Given the description of an element on the screen output the (x, y) to click on. 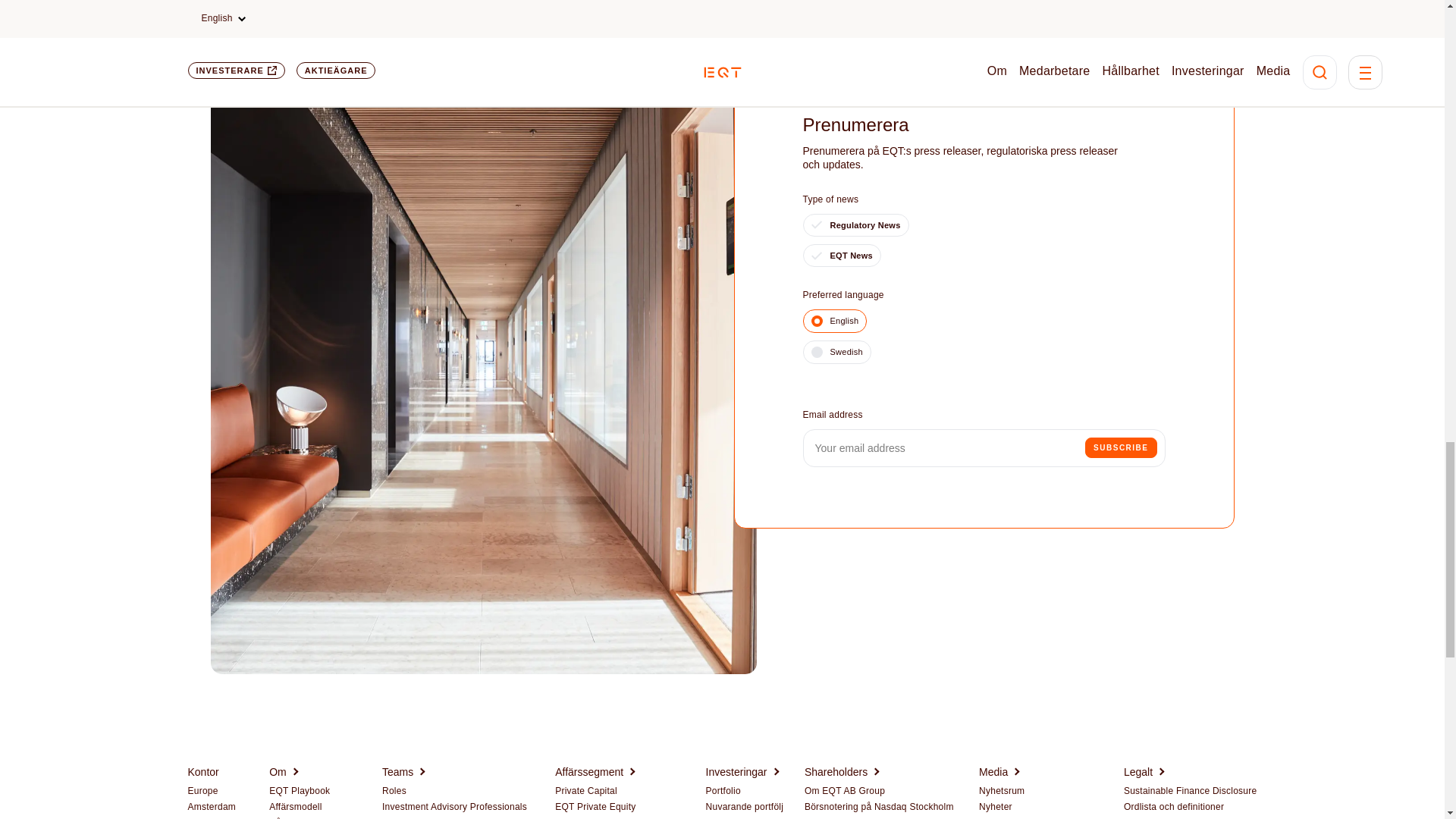
Amsterdam (211, 807)
Berlin (199, 818)
SUBSCRIBE (1120, 447)
English (834, 320)
Swedish (836, 351)
